Given the description of an element on the screen output the (x, y) to click on. 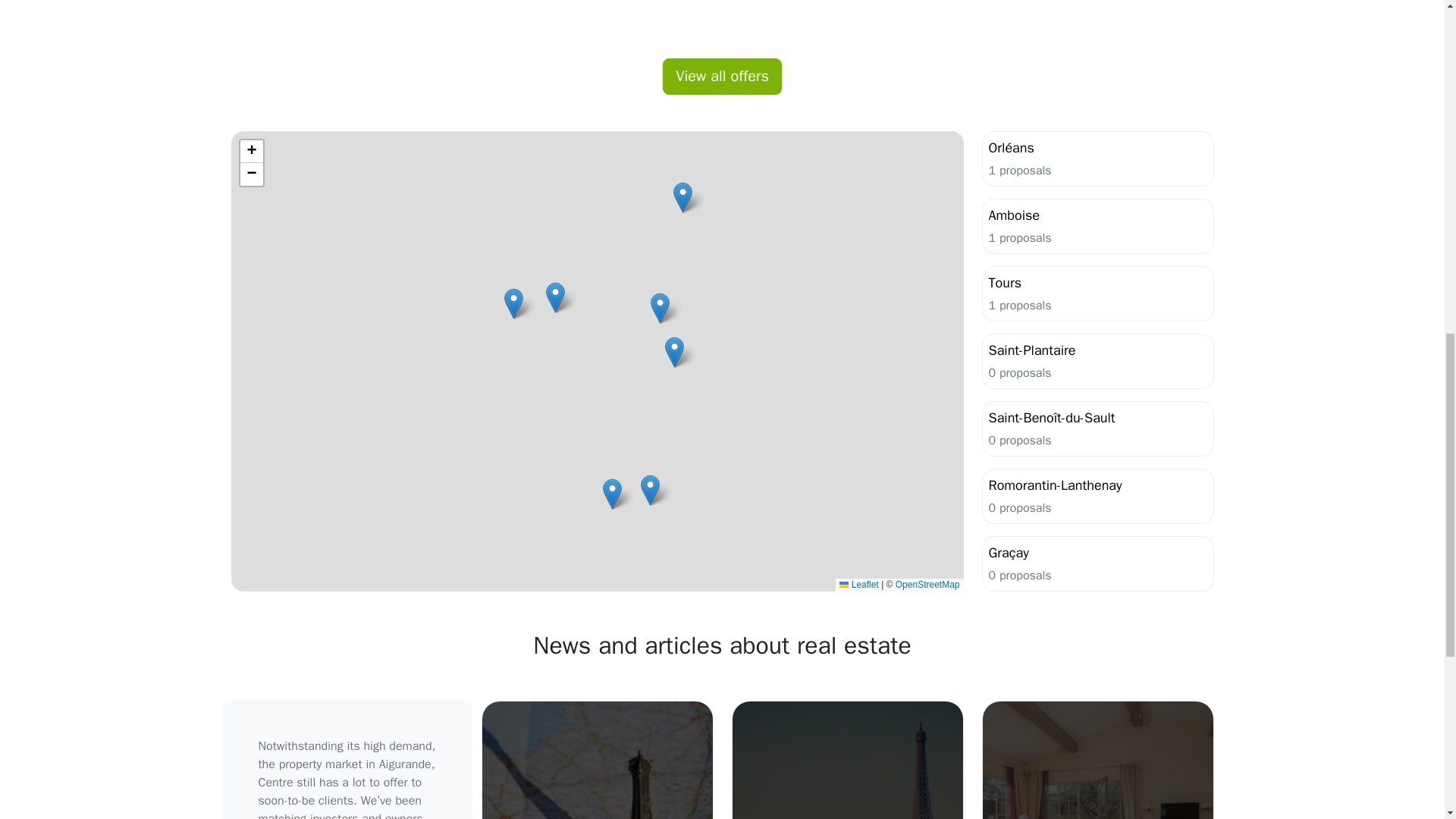
Zoom out (251, 173)
OpenStreetMap (927, 584)
A JavaScript library for interactive maps (1096, 226)
View all offers (858, 584)
Zoom in (1096, 361)
Leaflet (721, 76)
